Given the description of an element on the screen output the (x, y) to click on. 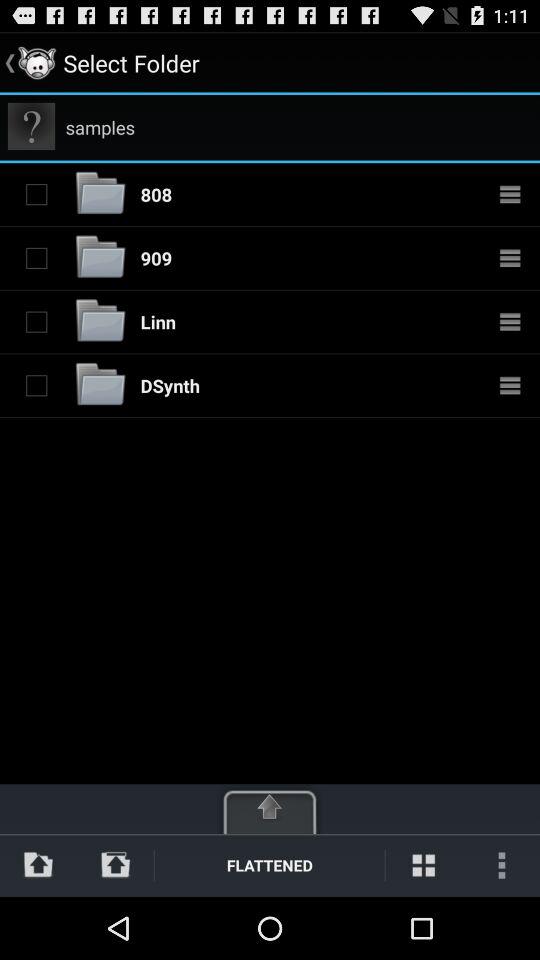
dsynth folder (100, 385)
